Given the description of an element on the screen output the (x, y) to click on. 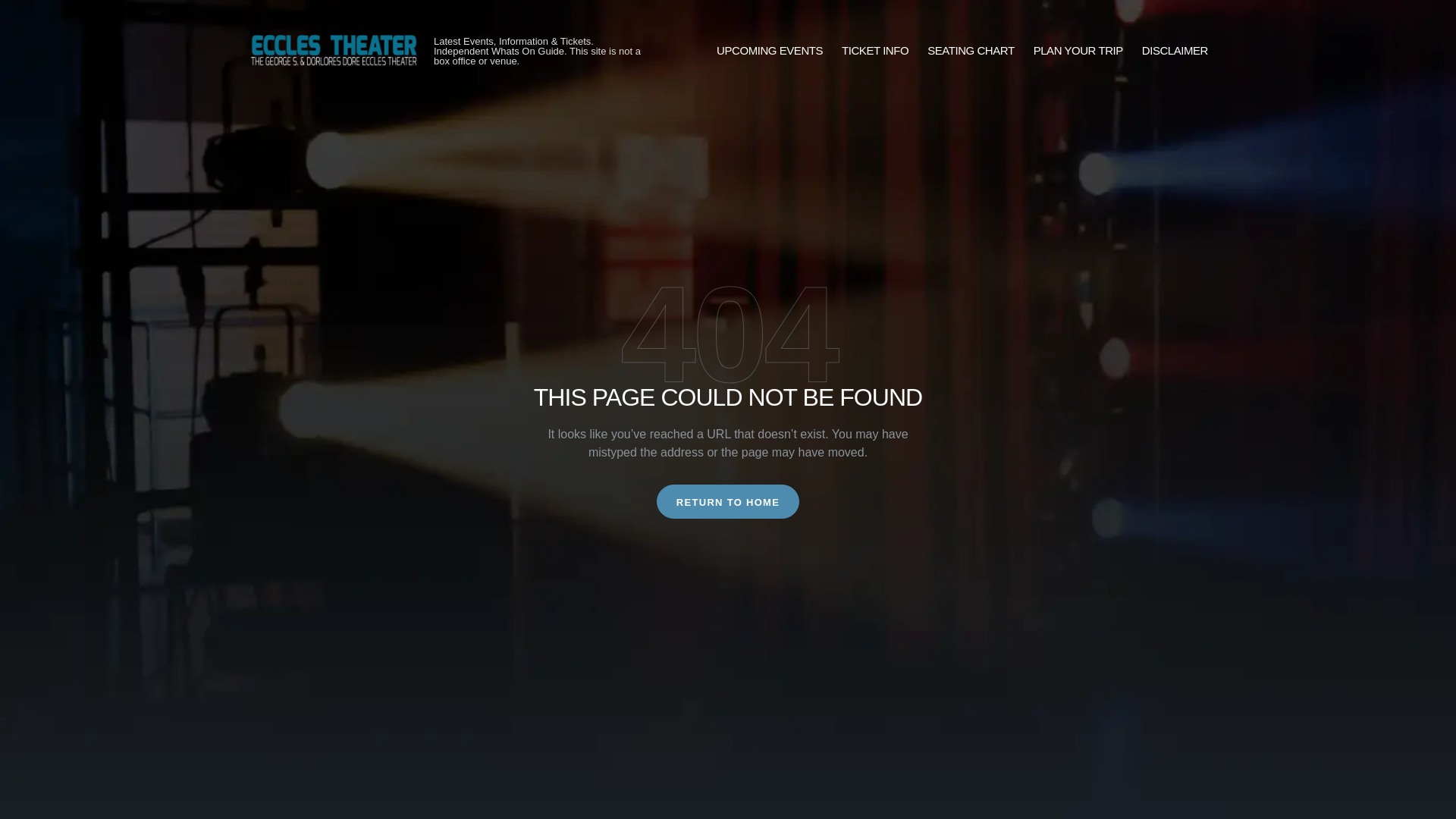
TICKET INFO (874, 50)
RETURN TO HOME (727, 501)
SEATING CHART (970, 50)
DISCLAIMER (1174, 50)
PLAN YOUR TRIP (1077, 50)
UPCOMING EVENTS (769, 50)
